Given the description of an element on the screen output the (x, y) to click on. 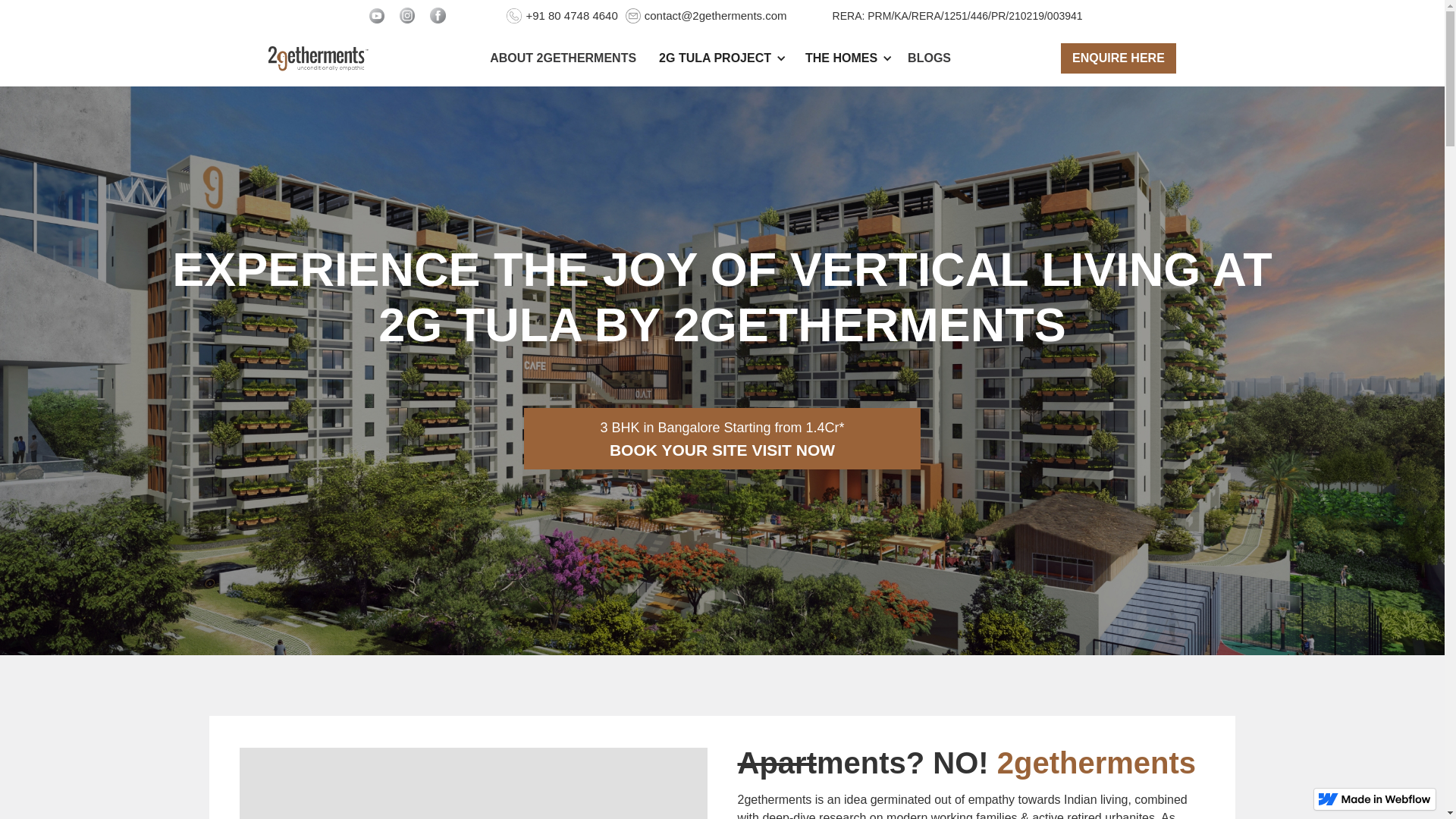
+91 80 4748 4640 Element type: text (571, 14)
BLOGS Element type: text (928, 58)
ABOUT 2GETHERMENTS Element type: text (563, 58)
ENQUIRE HERE Element type: text (1118, 58)
contact@2getherments.com Element type: text (715, 14)
